Given the description of an element on the screen output the (x, y) to click on. 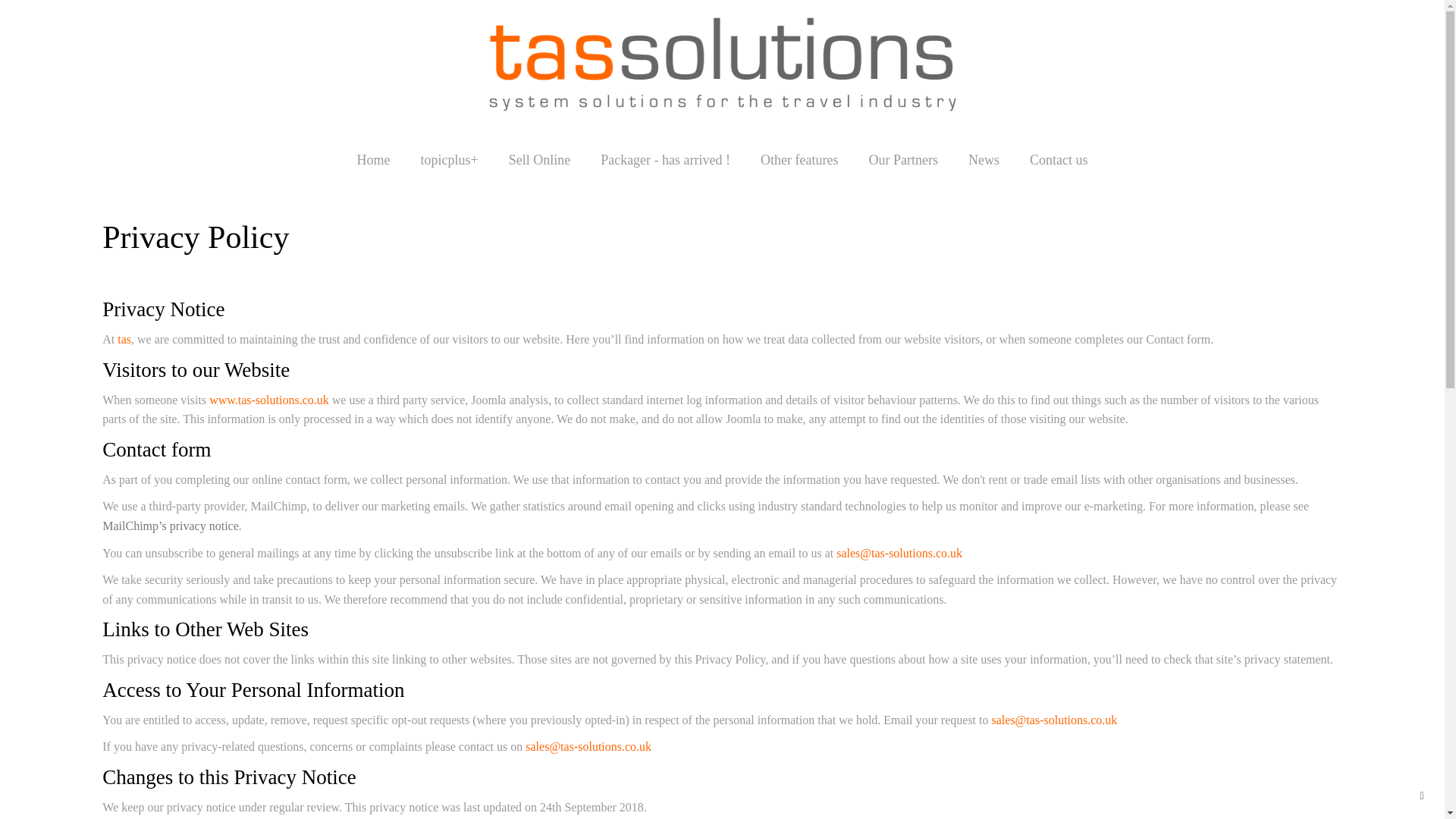
Sell Online (539, 159)
News (983, 159)
Our Partners (903, 159)
Other features (799, 159)
www.tas-solutions.co.uk (269, 399)
Home (372, 159)
Contact us (1058, 159)
Packager - has arrived ! (665, 159)
